Given the description of an element on the screen output the (x, y) to click on. 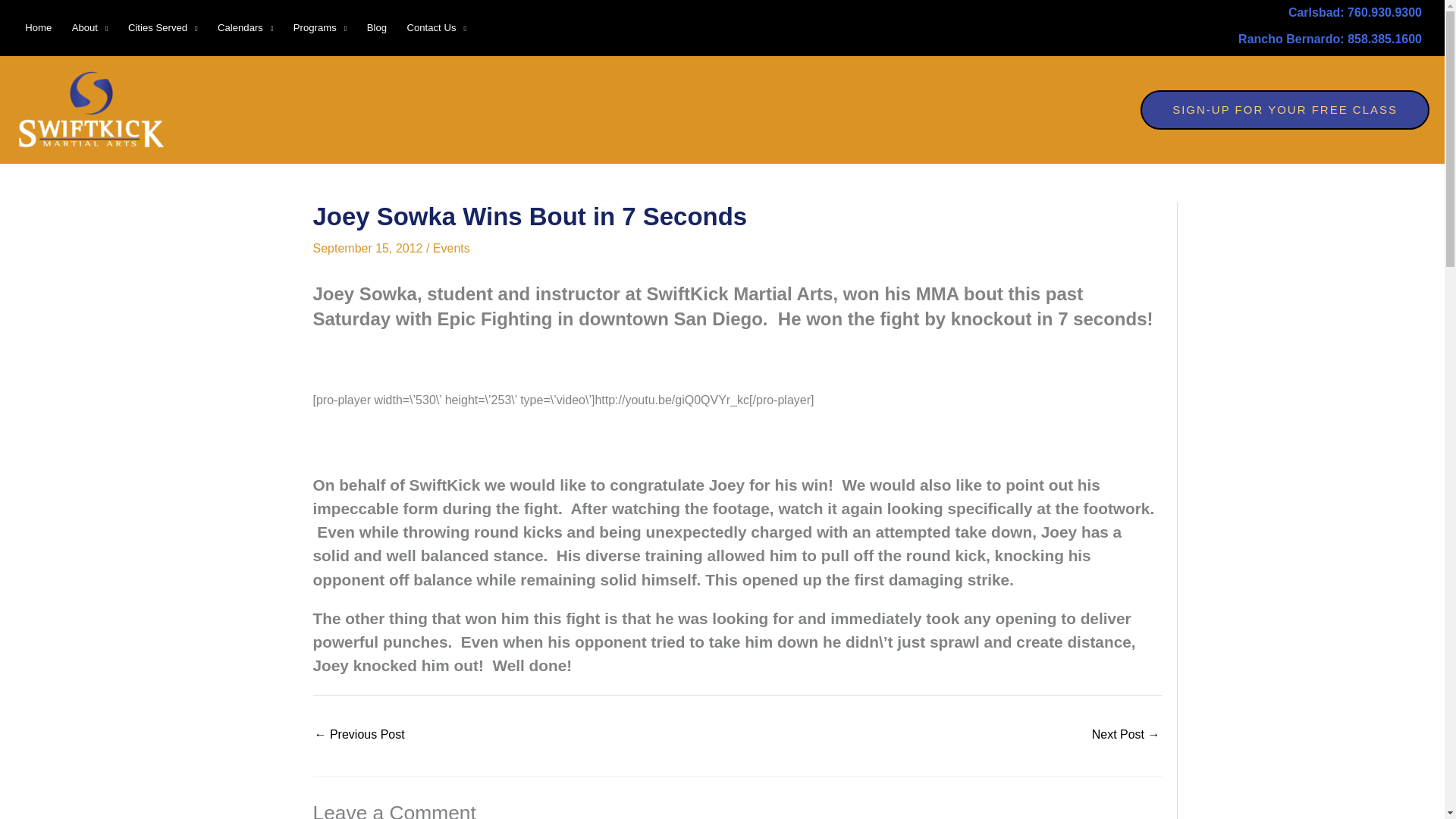
Advancing Rank (359, 735)
Now is a Great Time to Join SwiftKick! (1126, 735)
Cities Served (162, 27)
Home (37, 27)
About (89, 27)
